Given the description of an element on the screen output the (x, y) to click on. 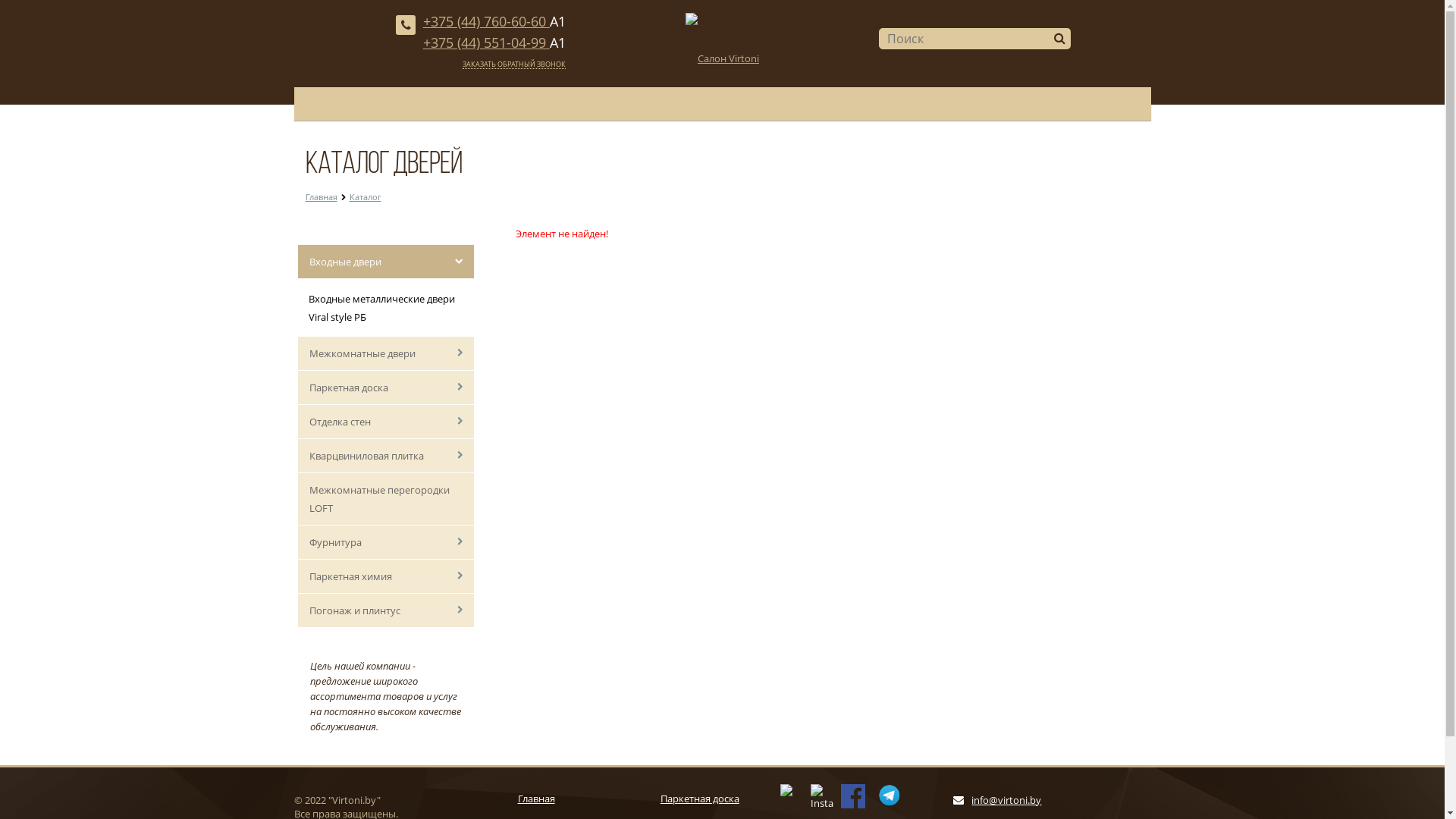
Instagram_icon.png Element type: hover (821, 795)
+375 (44) 551-04-99 Element type: text (486, 42)
800px-Telegram_Messenger.png Element type: hover (889, 795)
info@virtoni.by Element type: text (1006, 799)
+375 (44) 760-60-60 Element type: text (486, 21)
